Given the description of an element on the screen output the (x, y) to click on. 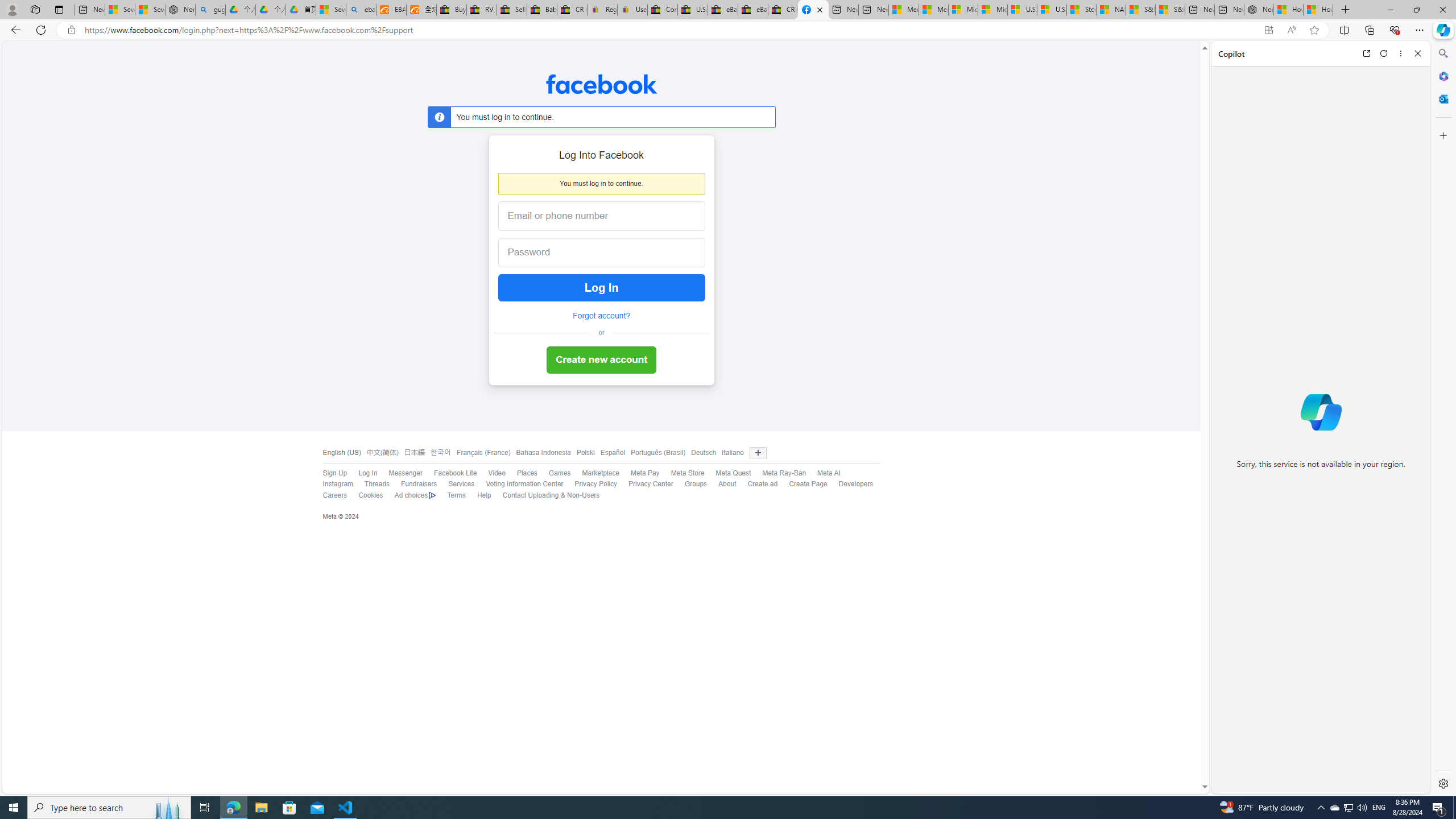
User Privacy Notice | eBay (632, 9)
Create Page (802, 484)
Italiano (730, 452)
Groups (689, 484)
Create ad (756, 484)
Register: Create a personal eBay account (601, 9)
Messenger (399, 473)
Microsoft 365 (1442, 76)
Open link in new tab (1366, 53)
Meta Store (681, 473)
Ad choices (415, 495)
Log In (600, 288)
Instagram (332, 484)
